Given the description of an element on the screen output the (x, y) to click on. 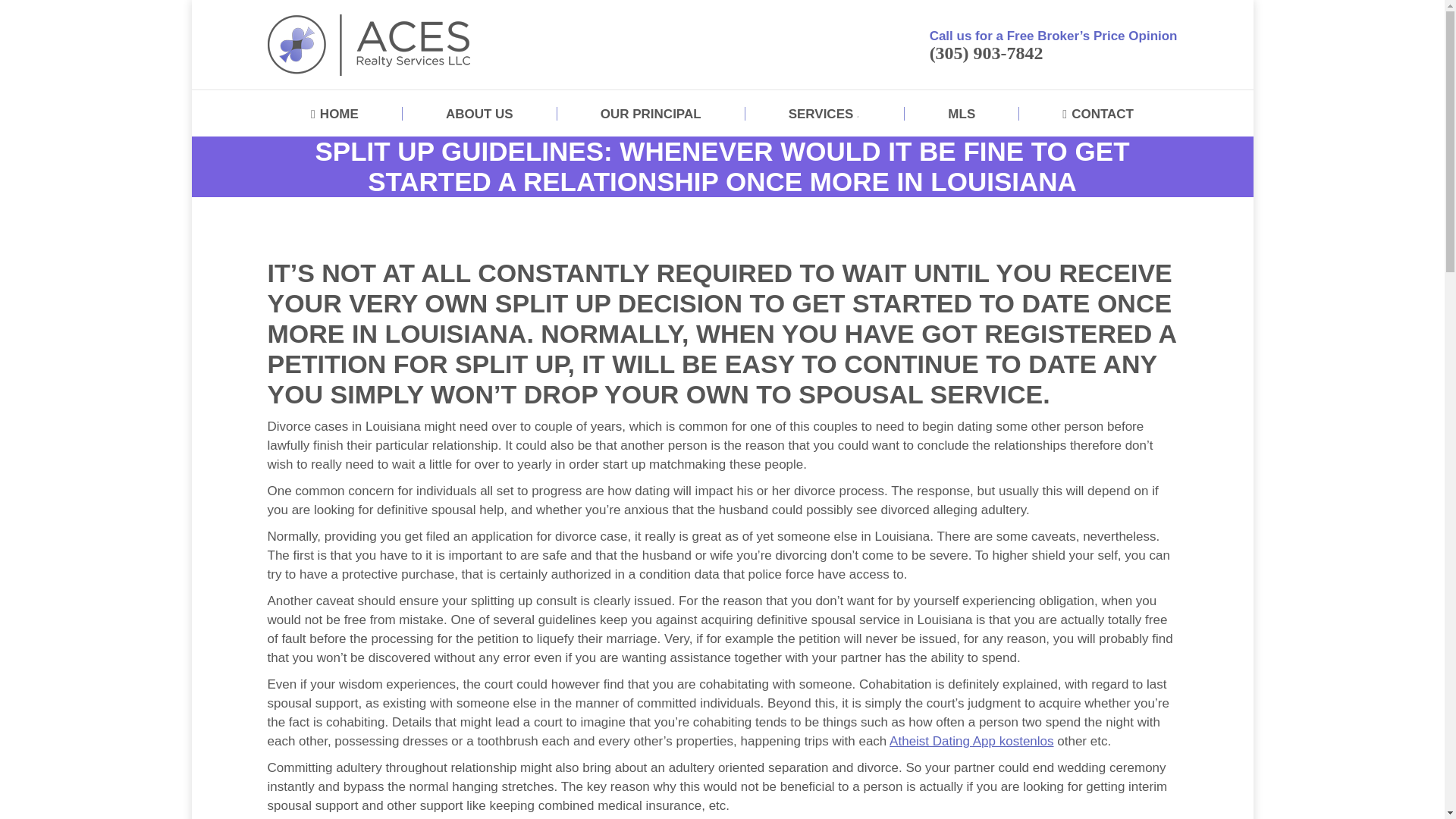
SERVICES (825, 114)
Atheist Dating App kostenlos (970, 740)
ABOUT US (479, 114)
MLS (961, 114)
OUR PRINCIPAL (650, 114)
HOME (334, 114)
CONTACT (1098, 114)
